Given the description of an element on the screen output the (x, y) to click on. 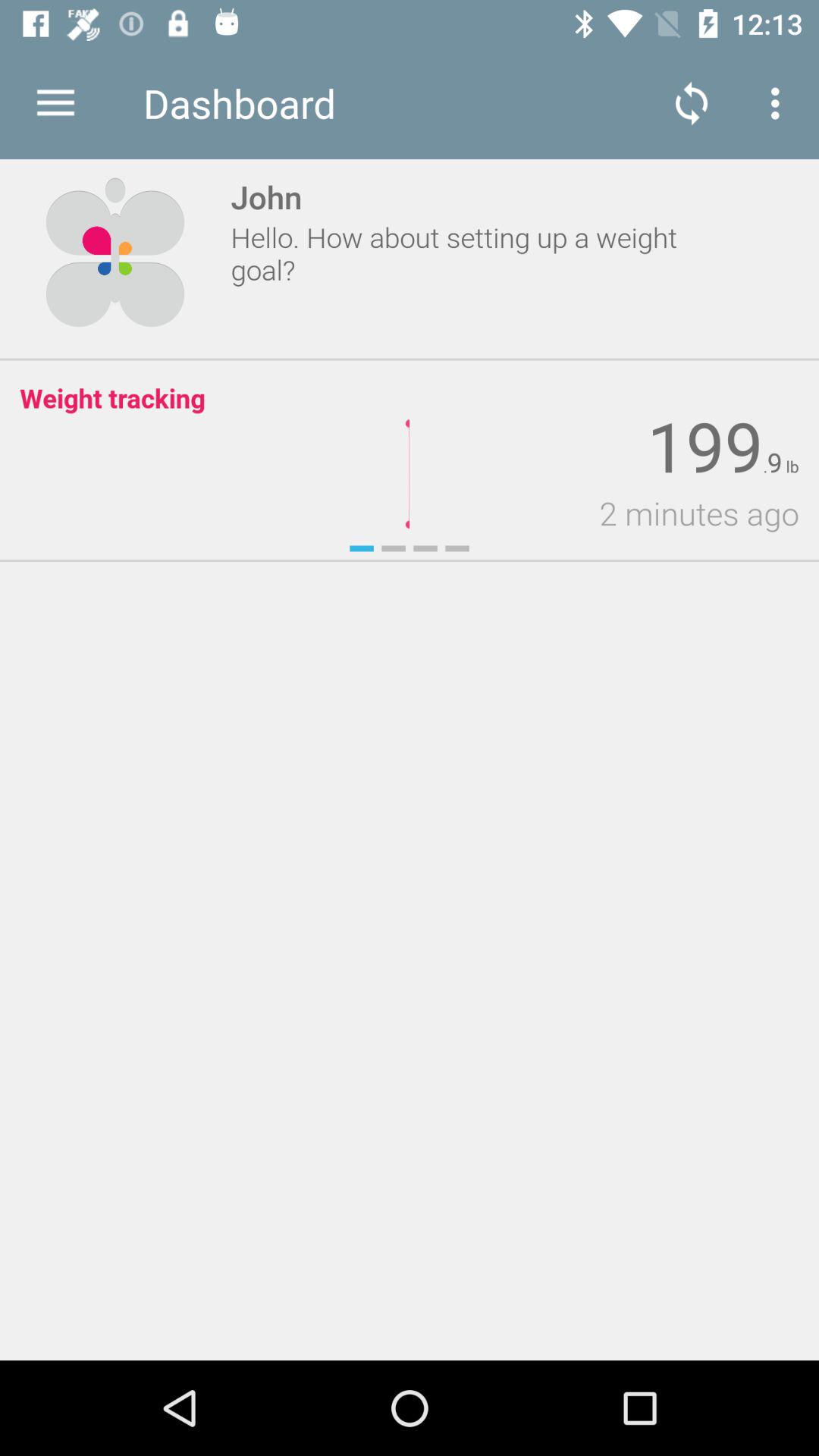
flip to . icon (765, 466)
